Given the description of an element on the screen output the (x, y) to click on. 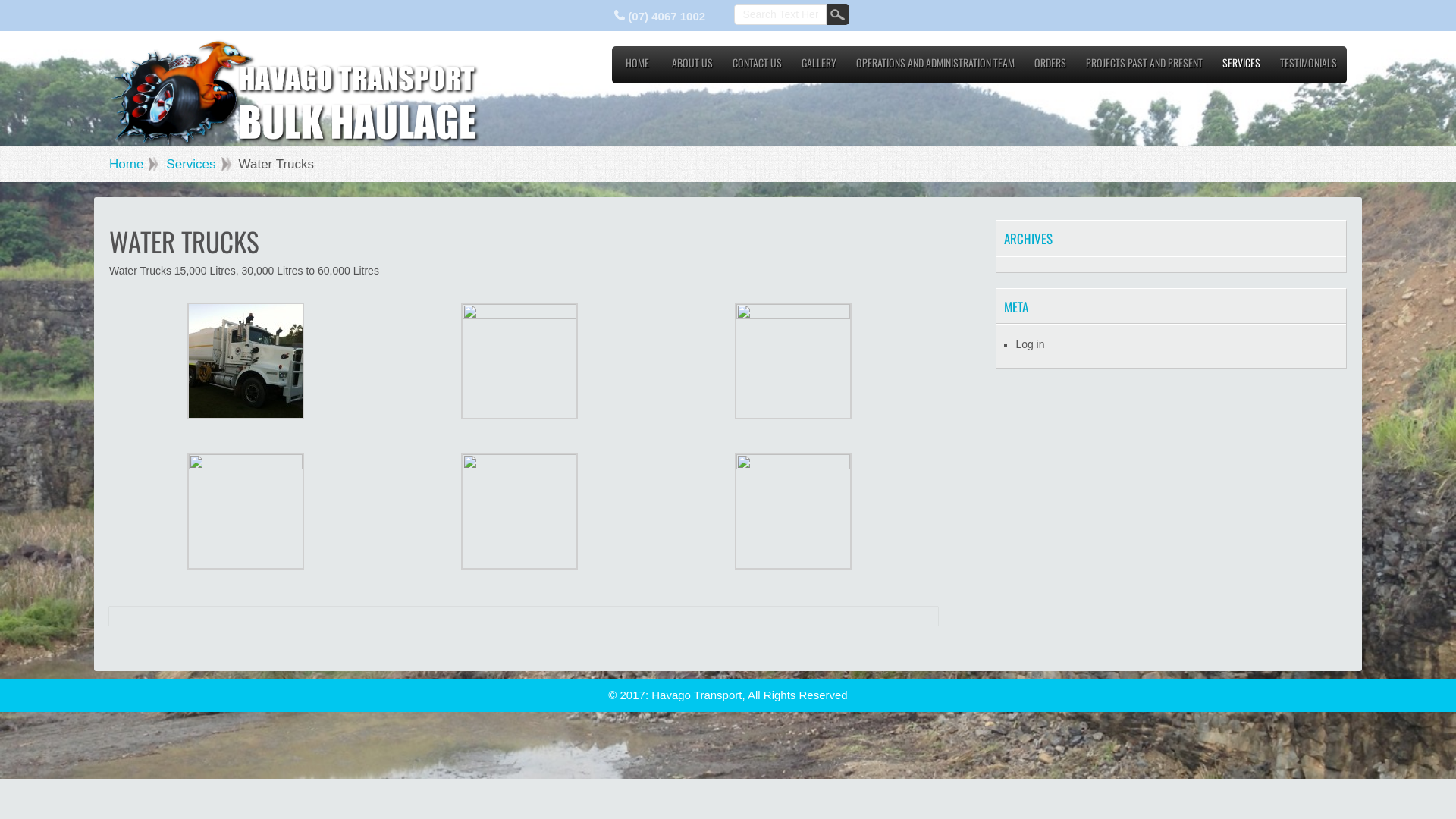
CONTACT US Element type: text (756, 66)
TESTIMONIALS Element type: text (1308, 66)
OPERATIONS AND ADMINISTRATION TEAM Element type: text (935, 66)
ORDERS Element type: text (1049, 66)
Search Element type: text (837, 14)
Services Element type: text (198, 163)
ABOUT US Element type: text (692, 66)
PROJECTS PAST AND PRESENT Element type: text (1144, 66)
Home Element type: text (133, 163)
HOME Element type: text (636, 66)
GALLERY Element type: text (818, 66)
SERVICES Element type: text (1240, 66)
Log in Element type: text (1029, 344)
